Given the description of an element on the screen output the (x, y) to click on. 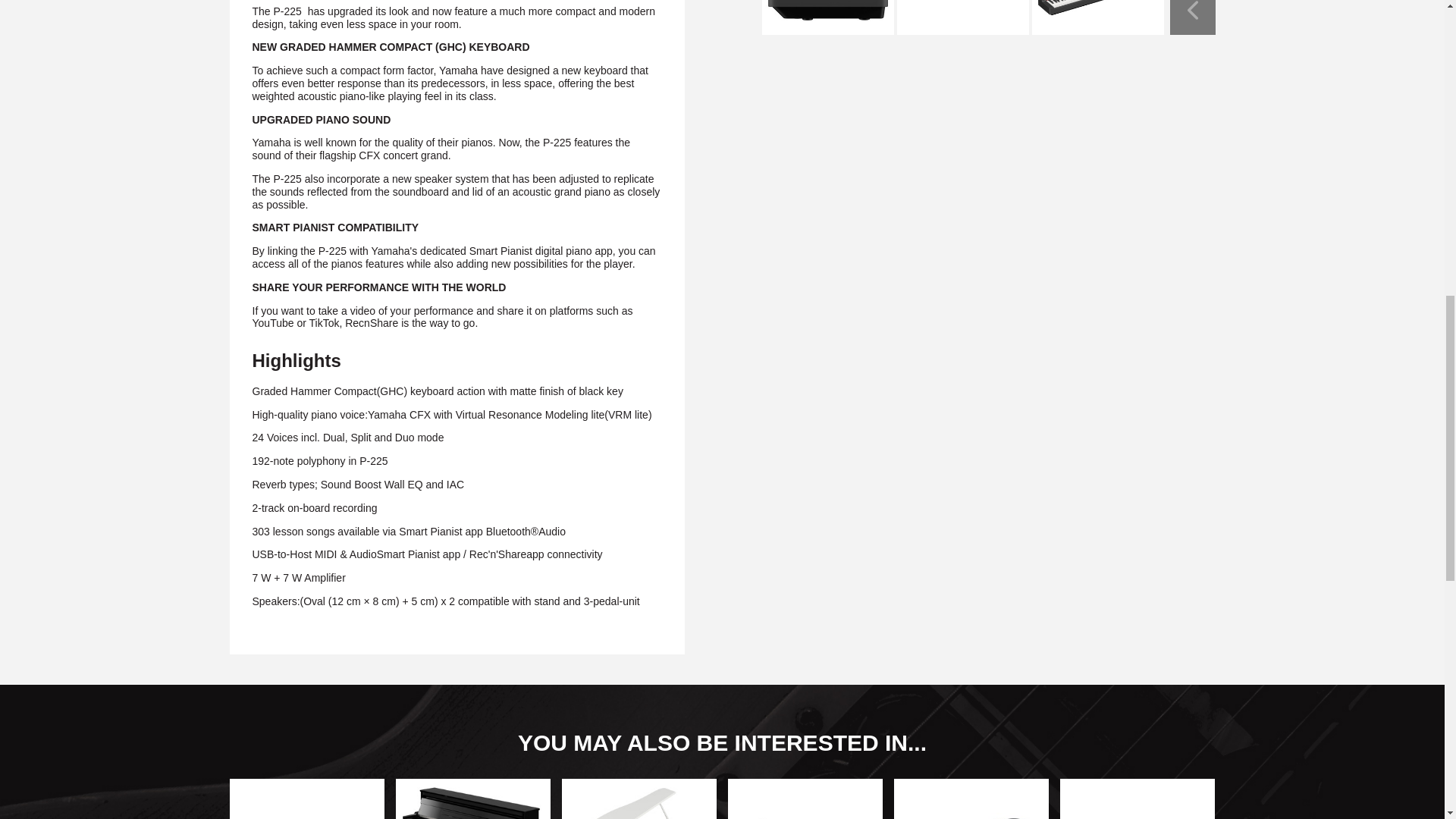
Stagg 2 phono plug to 2 phono plug 1 metre (970, 798)
Yamaha P225 Portable Piano (827, 17)
TGI Black 10mm Padded Keyboard Bag - 61 Note - 96x40x11cm (1136, 798)
Yamaha P225 Portable Piano (961, 17)
Yamaha P225 Portable Piano (1096, 17)
